Given the description of an element on the screen output the (x, y) to click on. 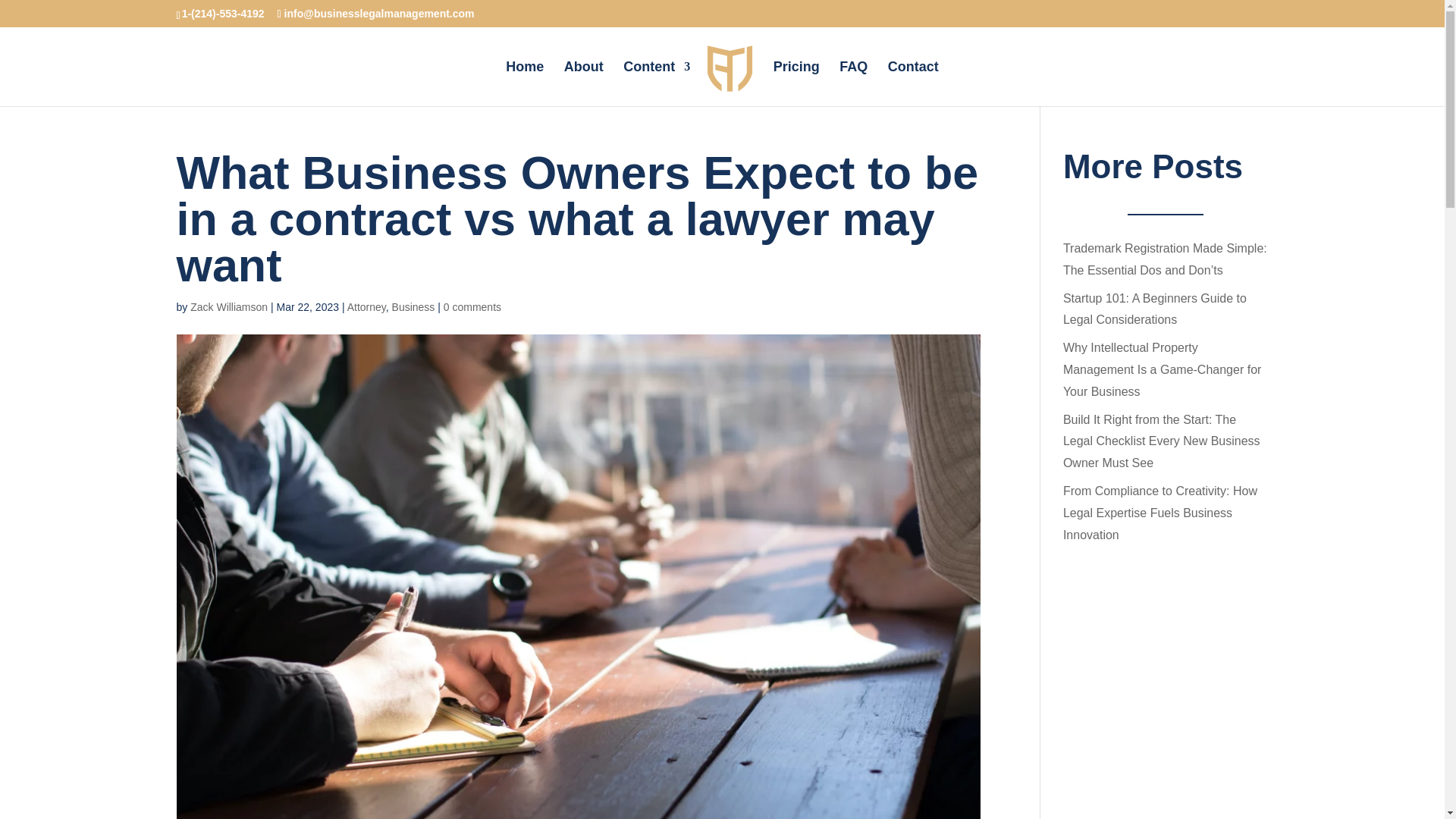
0 comments (472, 306)
Content (656, 83)
Attorney (366, 306)
Zack Williamson (228, 306)
Contact (913, 83)
Posts by Zack Williamson (228, 306)
Business (413, 306)
Pricing (796, 83)
